Given the description of an element on the screen output the (x, y) to click on. 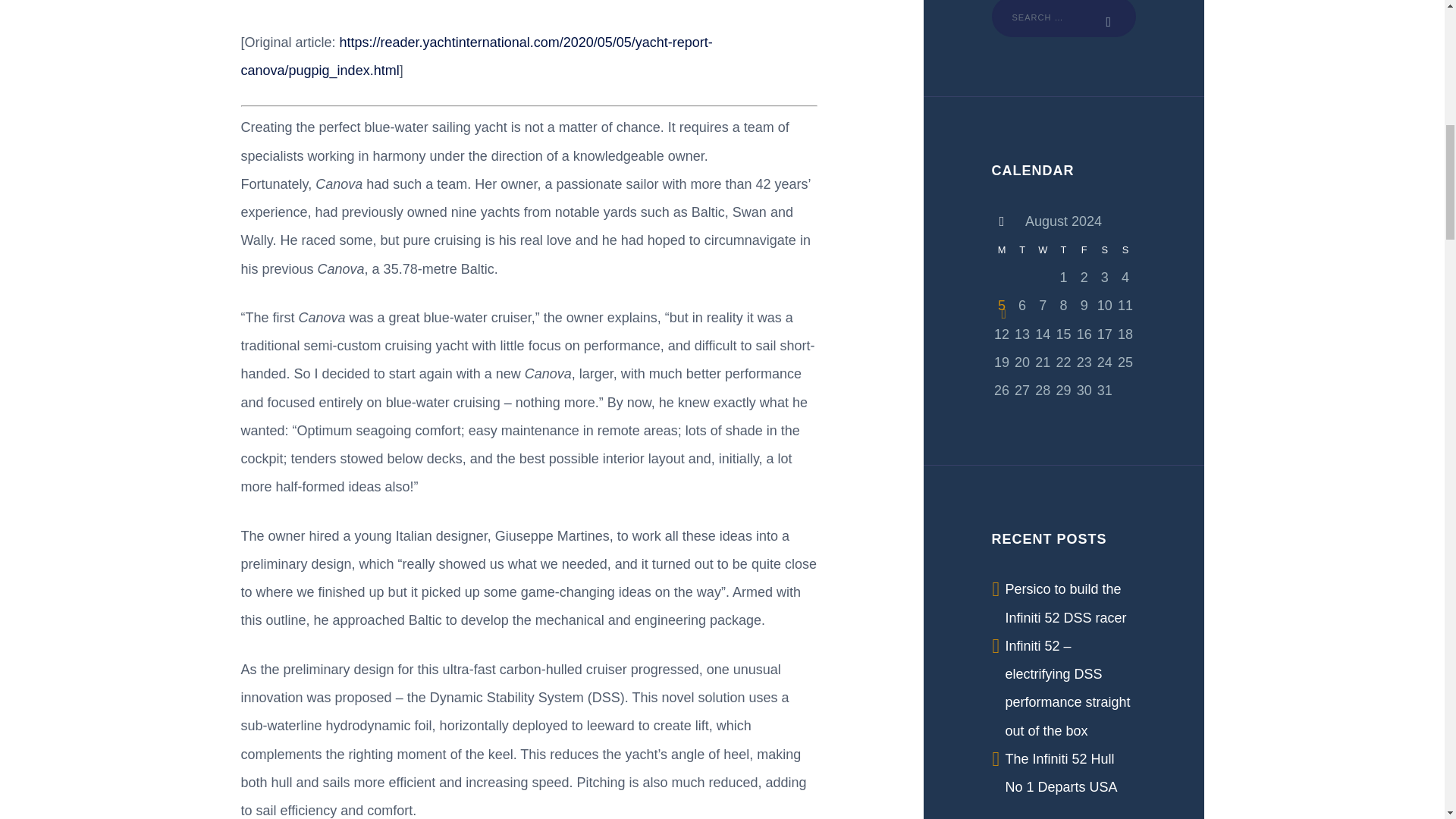
Persico to build the Infiniti 52 DSS racer (1066, 602)
The Infiniti 52 Hull No 1 Departs USA (1062, 772)
Search for: (1063, 18)
